Given the description of an element on the screen output the (x, y) to click on. 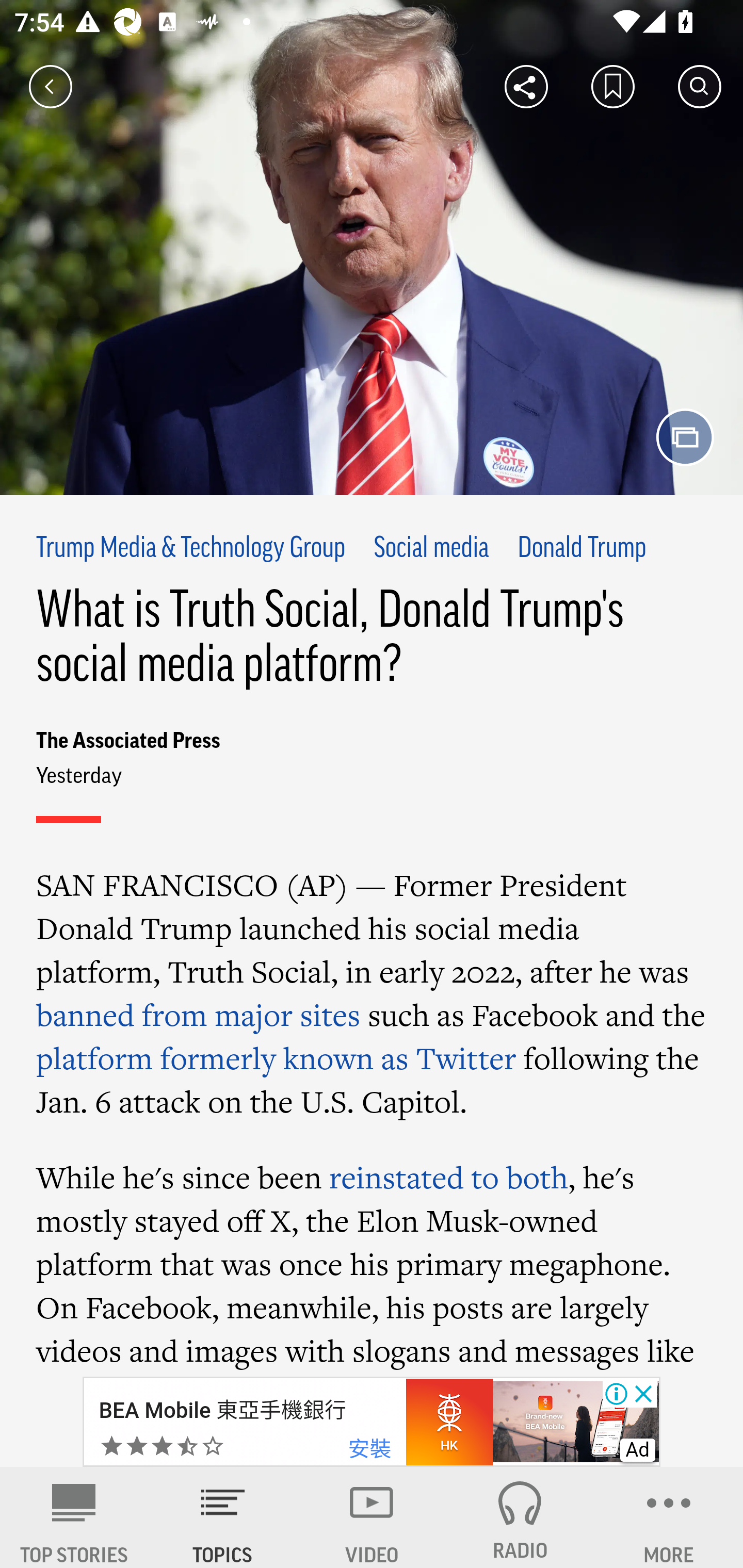
Trump Media & Technology Group (191, 549)
Social media (430, 549)
Donald Trump (581, 549)
banned from major sites (198, 1015)
platform formerly known as Twitter (276, 1058)
reinstated to both (448, 1177)
BEA Mobile 東亞手機銀行 (221, 1410)
安裝 (369, 1449)
AP News TOP STORIES (74, 1517)
TOPICS (222, 1517)
VIDEO (371, 1517)
RADIO (519, 1517)
MORE (668, 1517)
